Given the description of an element on the screen output the (x, y) to click on. 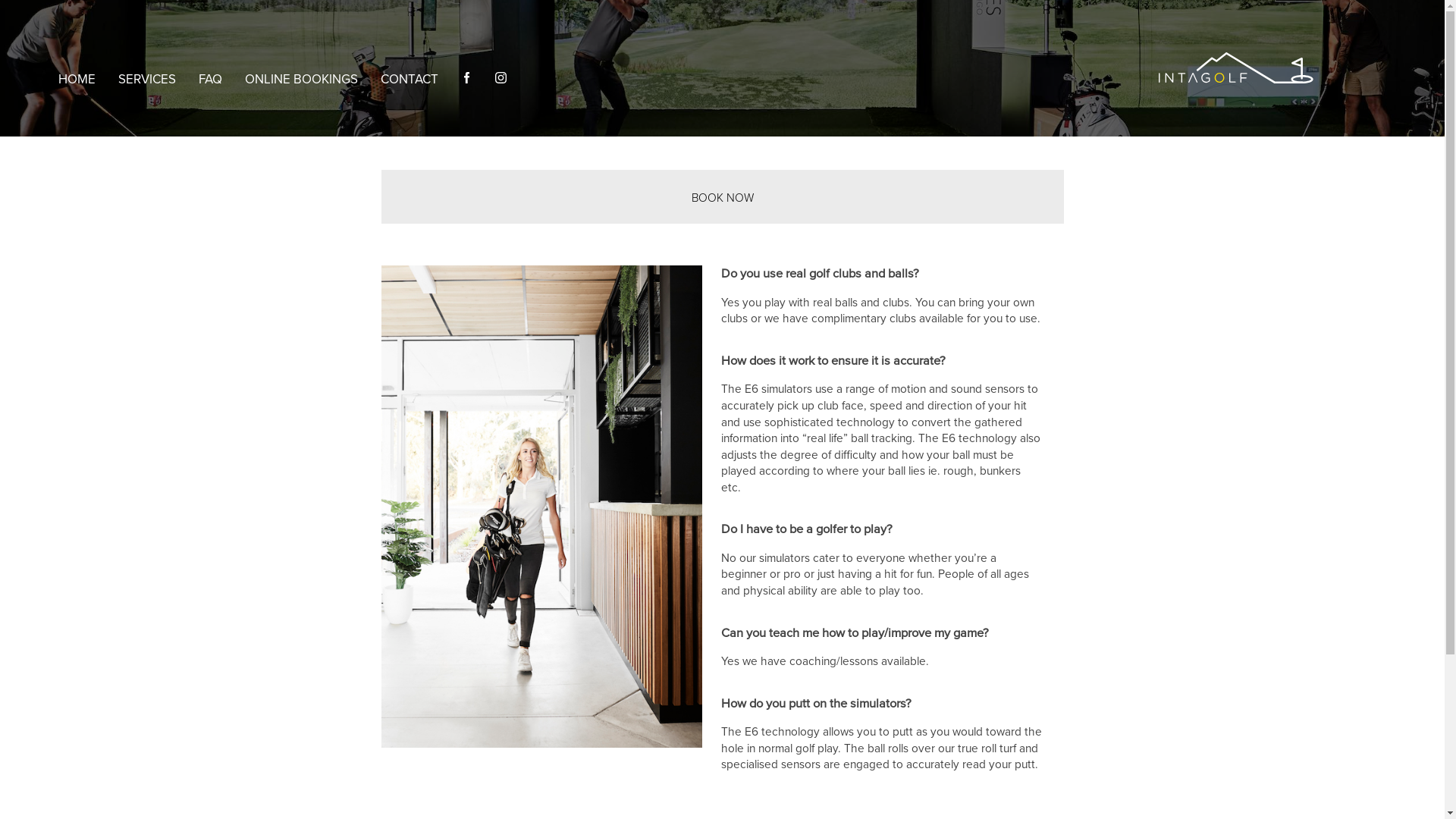
HOME Element type: text (76, 79)
SERVICES Element type: text (146, 79)
ONLINE BOOKINGS Element type: text (301, 79)
CONTACT Element type: text (409, 79)
FAQ Element type: text (210, 79)
BOOK NOW Element type: text (722, 197)
